Given the description of an element on the screen output the (x, y) to click on. 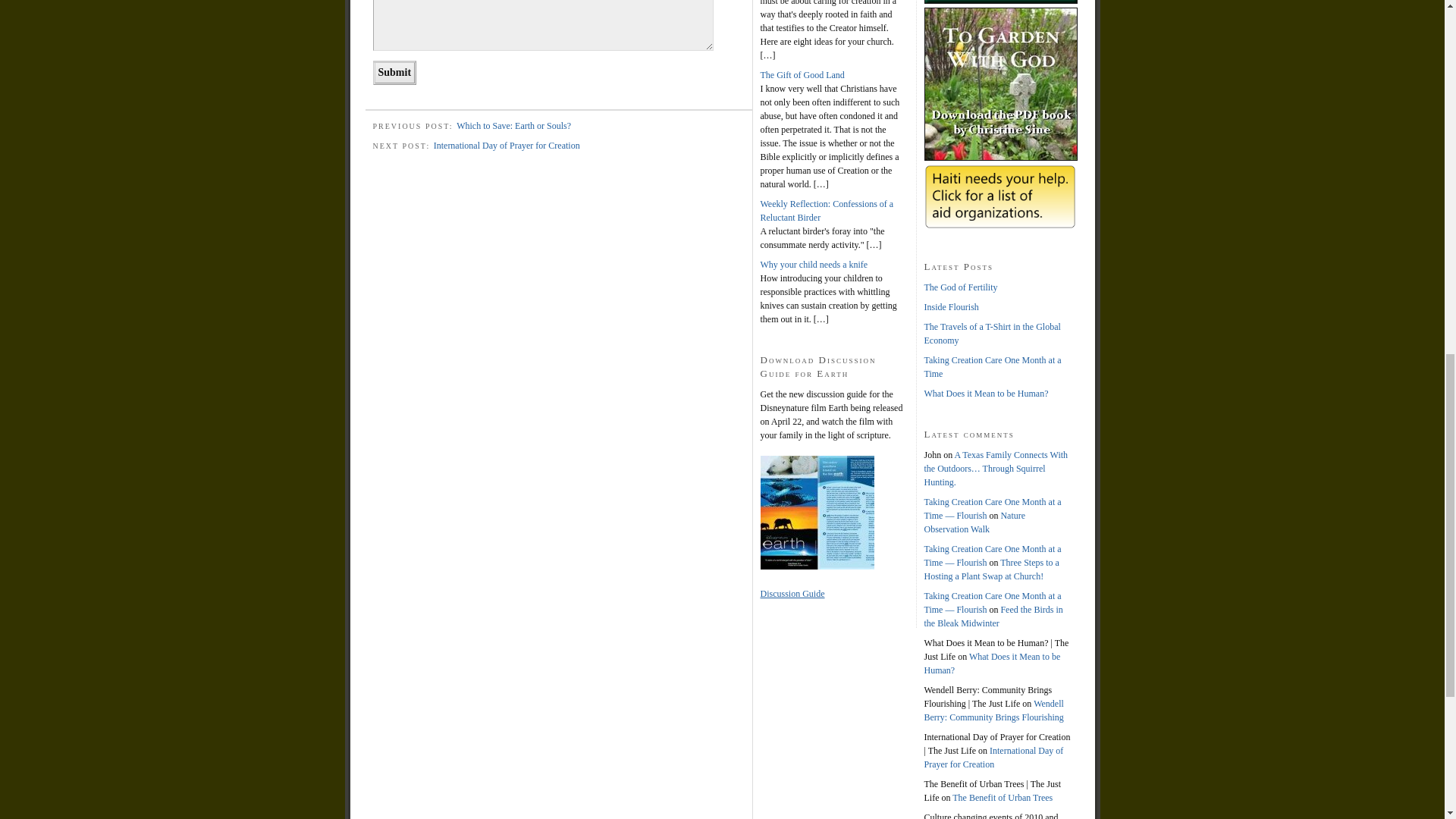
What Does it Mean to be Human? (985, 393)
International Day of Prayer for Creation (992, 757)
Feed the Birds in the Bleak Midwinter (992, 616)
What Does it Mean to be Human? (991, 663)
Inside Flourish (950, 307)
Nature Observation Walk (974, 522)
Why your child needs a knife (813, 264)
Discussion Guide (792, 593)
Weekly Reflection: Confessions of a Reluctant Birder (826, 210)
Wendell Berry: Community Brings Flourishing (992, 710)
